Given the description of an element on the screen output the (x, y) to click on. 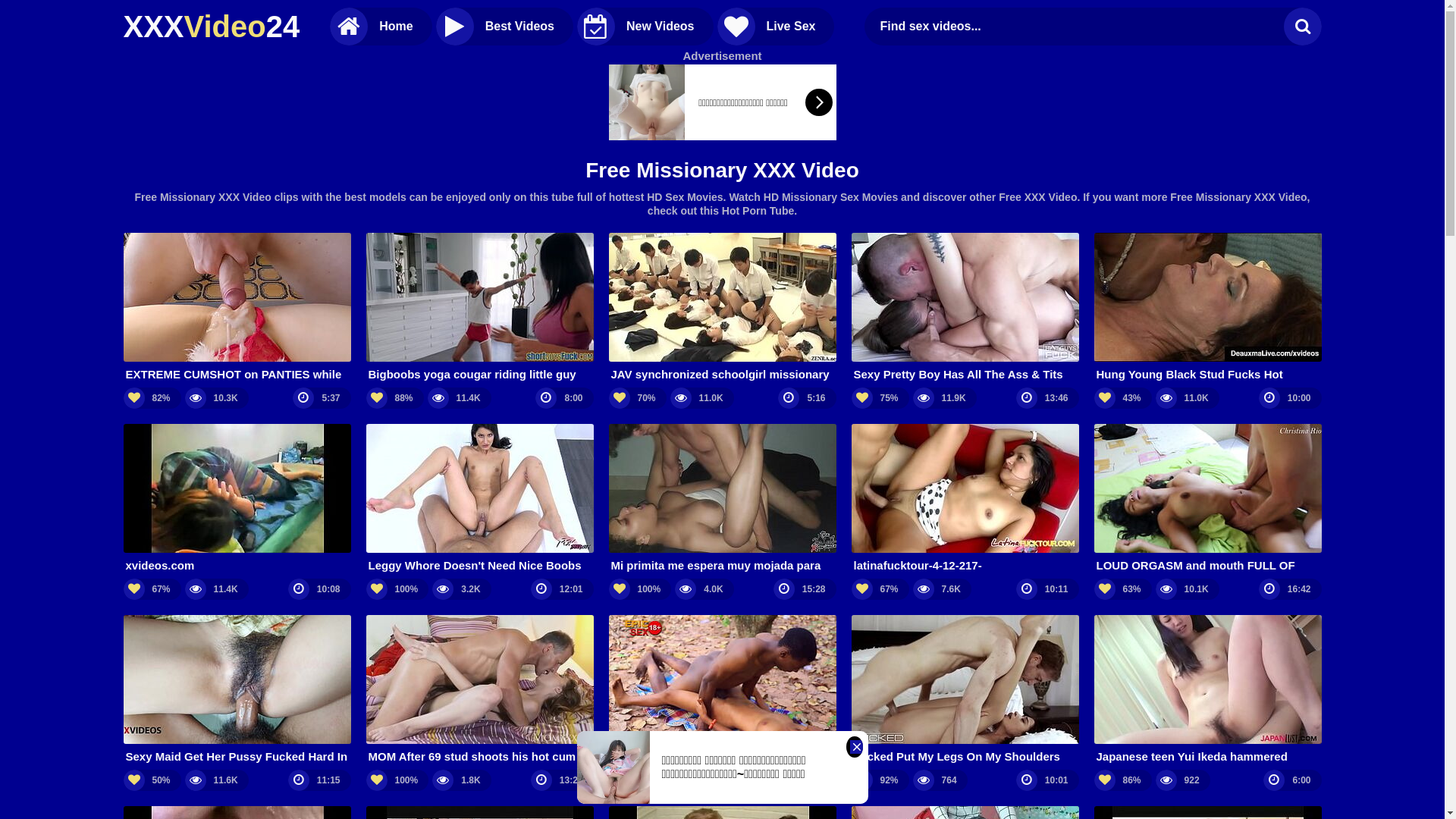
Live Sex Element type: text (775, 26)
Search Element type: hover (1302, 26)
JAV synchronized schoolgirl missionary sex led by teacher Element type: text (721, 307)
Home Element type: text (380, 26)
XXXVideo24 Element type: text (210, 26)
Fill my pussy with your huge cum Element type: text (721, 689)
Wicked Put My Legs On My Shoulders And Pound My Pussy Element type: text (964, 689)
xvideos.com 4c0974eff1a54e4e2352a4f968bcb102 Element type: text (236, 498)
Best Videos Element type: text (504, 26)
LOUD ORGASM and mouth FULL OF CUM Christina Rio Element type: text (1207, 498)
Hung Young Black Stud Fucks Hot Mature Mommy Deauxma! Element type: text (1207, 307)
New Videos Element type: text (645, 26)
Use Latin letters, digits, space, - Element type: hover (1077, 26)
Bigboobs yoga cougar riding little guy before missionary Element type: text (479, 307)
Japanese teen Yui Ikeda hammered missionary Element type: text (1207, 689)
